Given the description of an element on the screen output the (x, y) to click on. 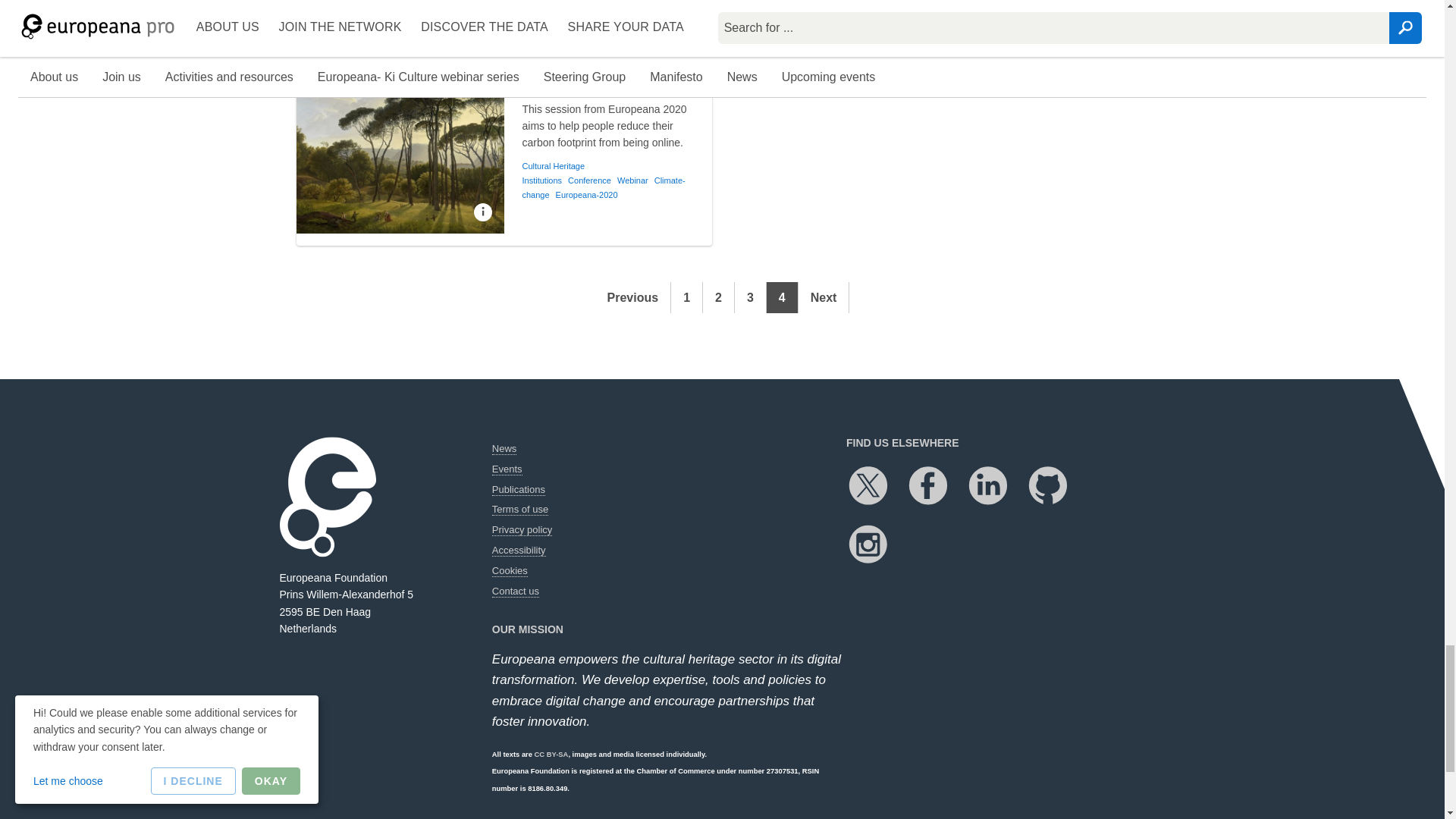
Events (507, 469)
News (504, 449)
Publications (518, 490)
